Given the description of an element on the screen output the (x, y) to click on. 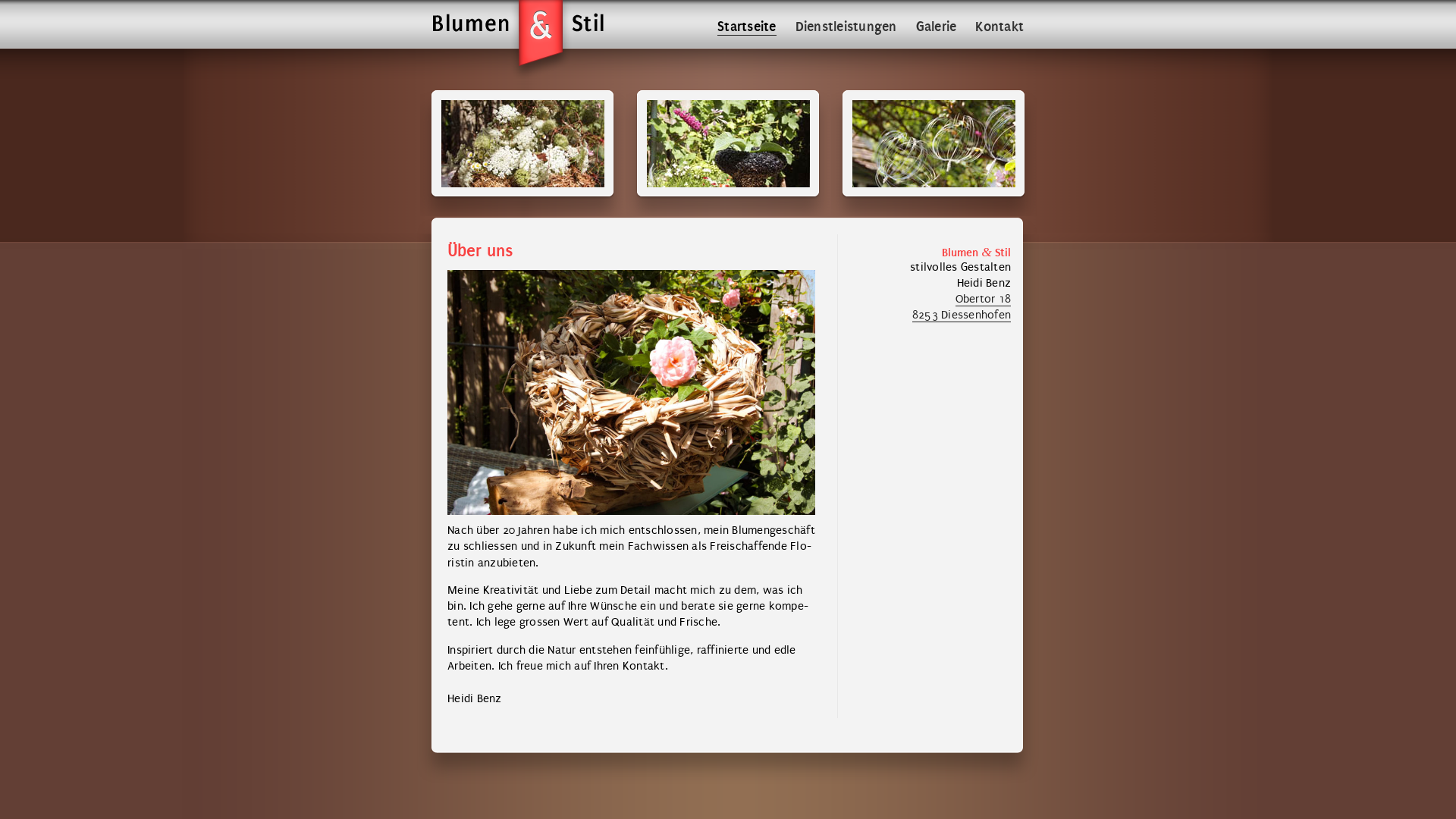
Kontakt Element type: text (999, 26)
Dienstleistungen Element type: text (845, 26)
Galerie Element type: text (936, 26)
Startseite Element type: text (746, 26)
